Given the description of an element on the screen output the (x, y) to click on. 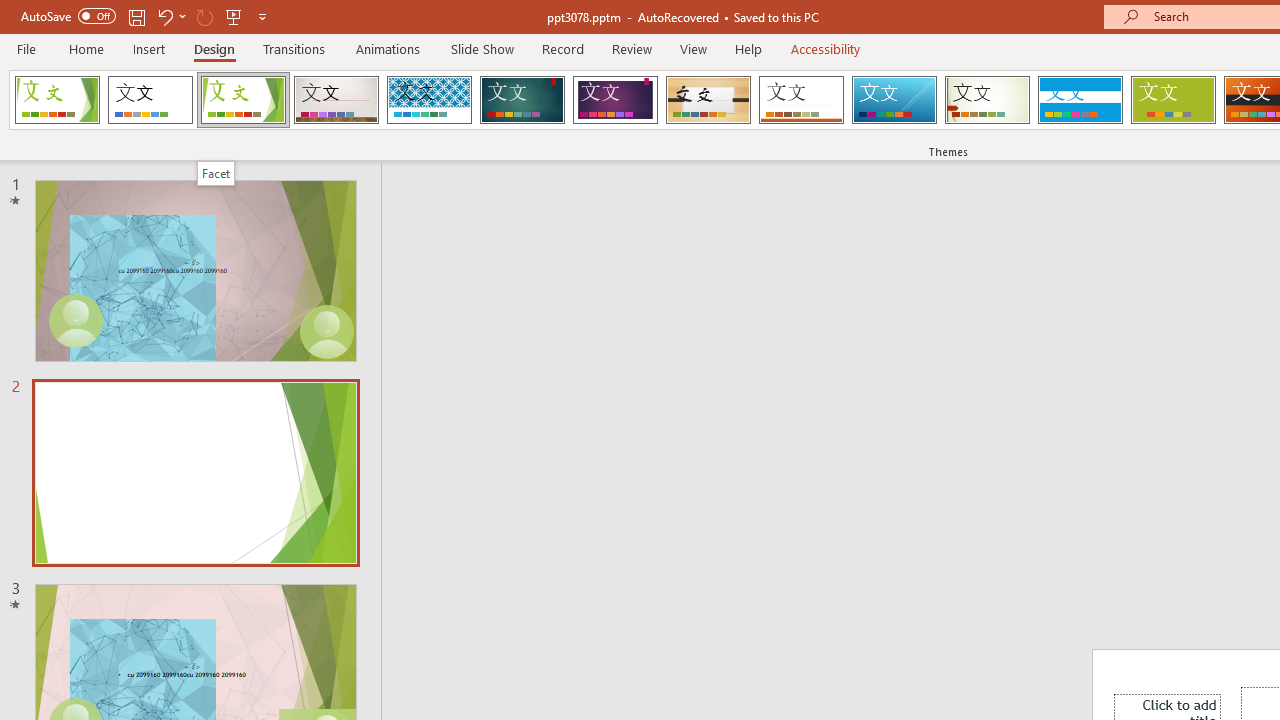
Banded (1080, 100)
Facet (243, 100)
Slice (893, 100)
Office Theme (150, 100)
Ion (522, 100)
